Given the description of an element on the screen output the (x, y) to click on. 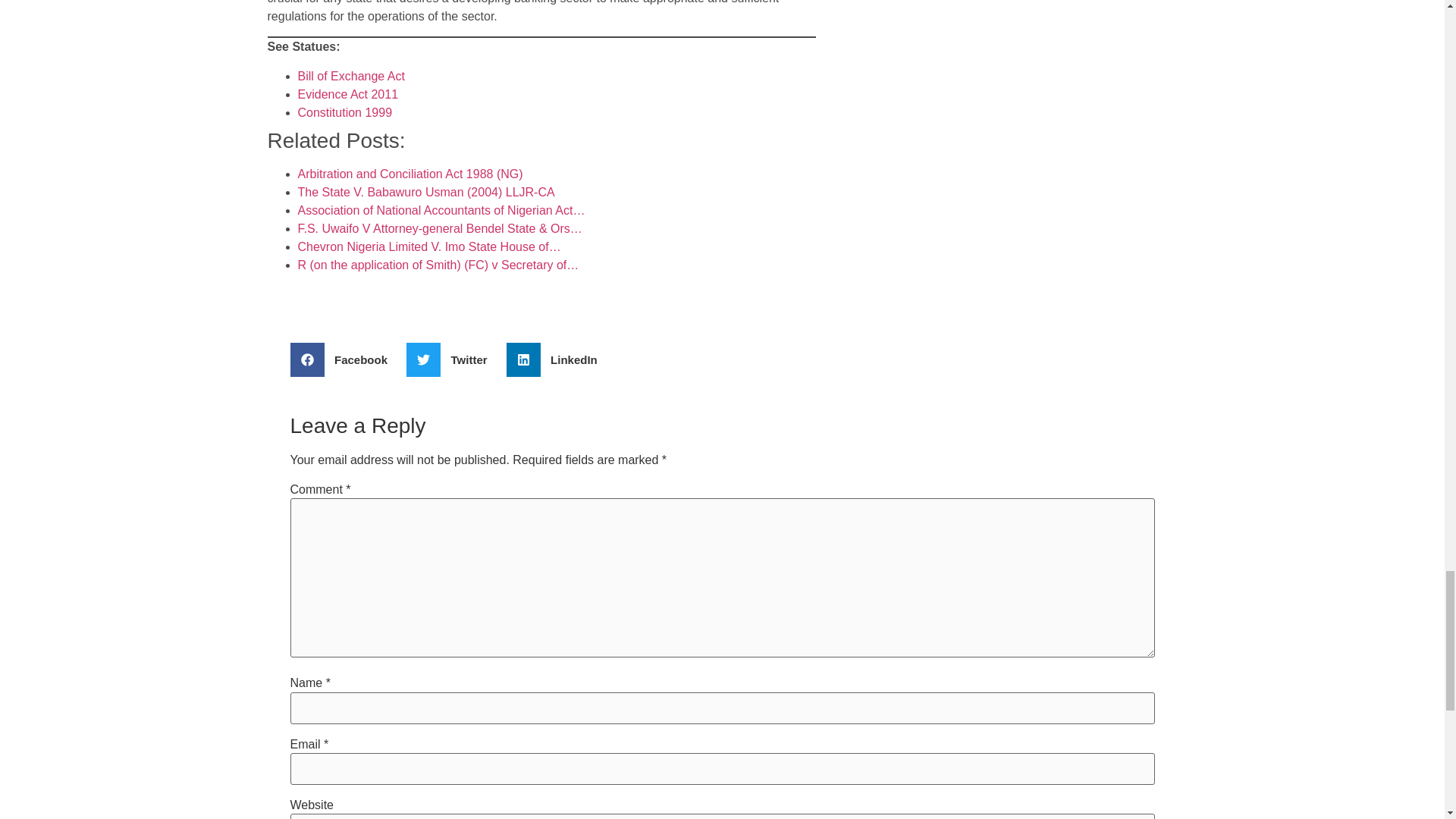
Bill of Exchange Act (350, 75)
Constitution 1999 (344, 112)
Evidence Act 2011 (347, 93)
